Given the description of an element on the screen output the (x, y) to click on. 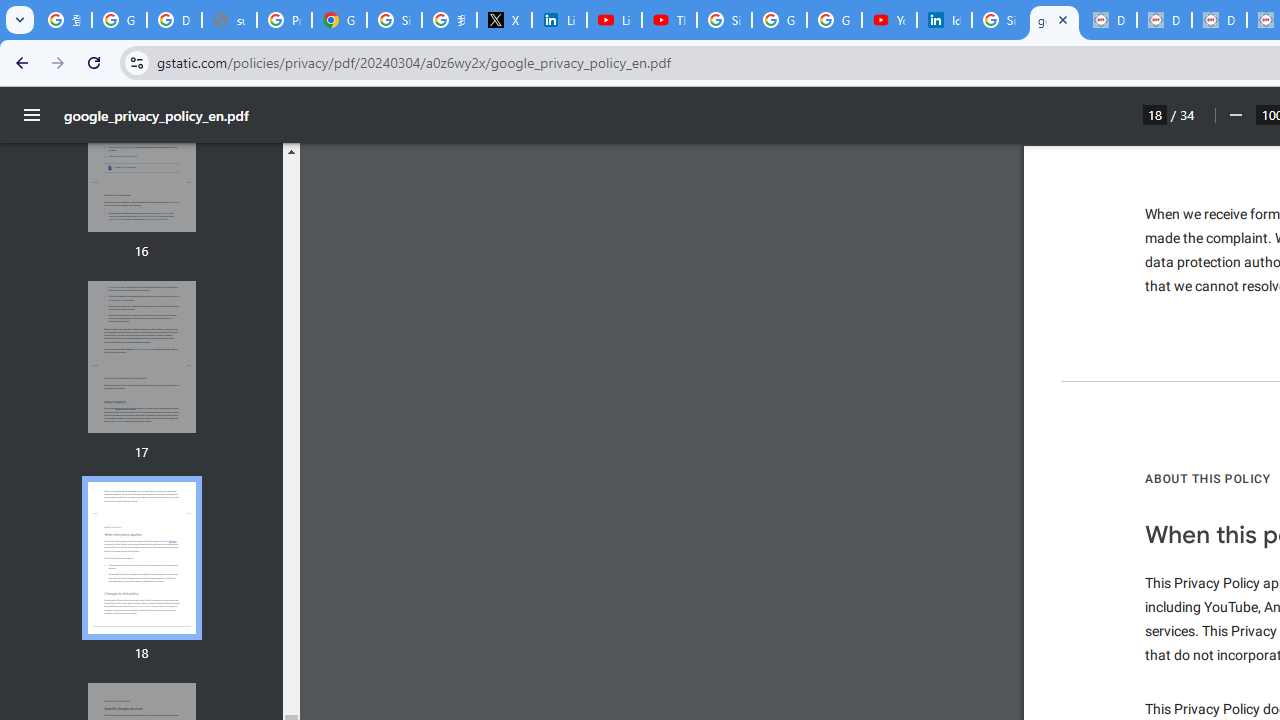
Sign in - Google Accounts (998, 20)
Sign in - Google Accounts (724, 20)
Privacy Help Center - Policies Help (284, 20)
X (504, 20)
LinkedIn - YouTube (614, 20)
Sign in - Google Accounts (394, 20)
Data Privacy Framework (1163, 20)
Thumbnail for page 18 (141, 557)
Thumbnail for page 16 (141, 156)
